Given the description of an element on the screen output the (x, y) to click on. 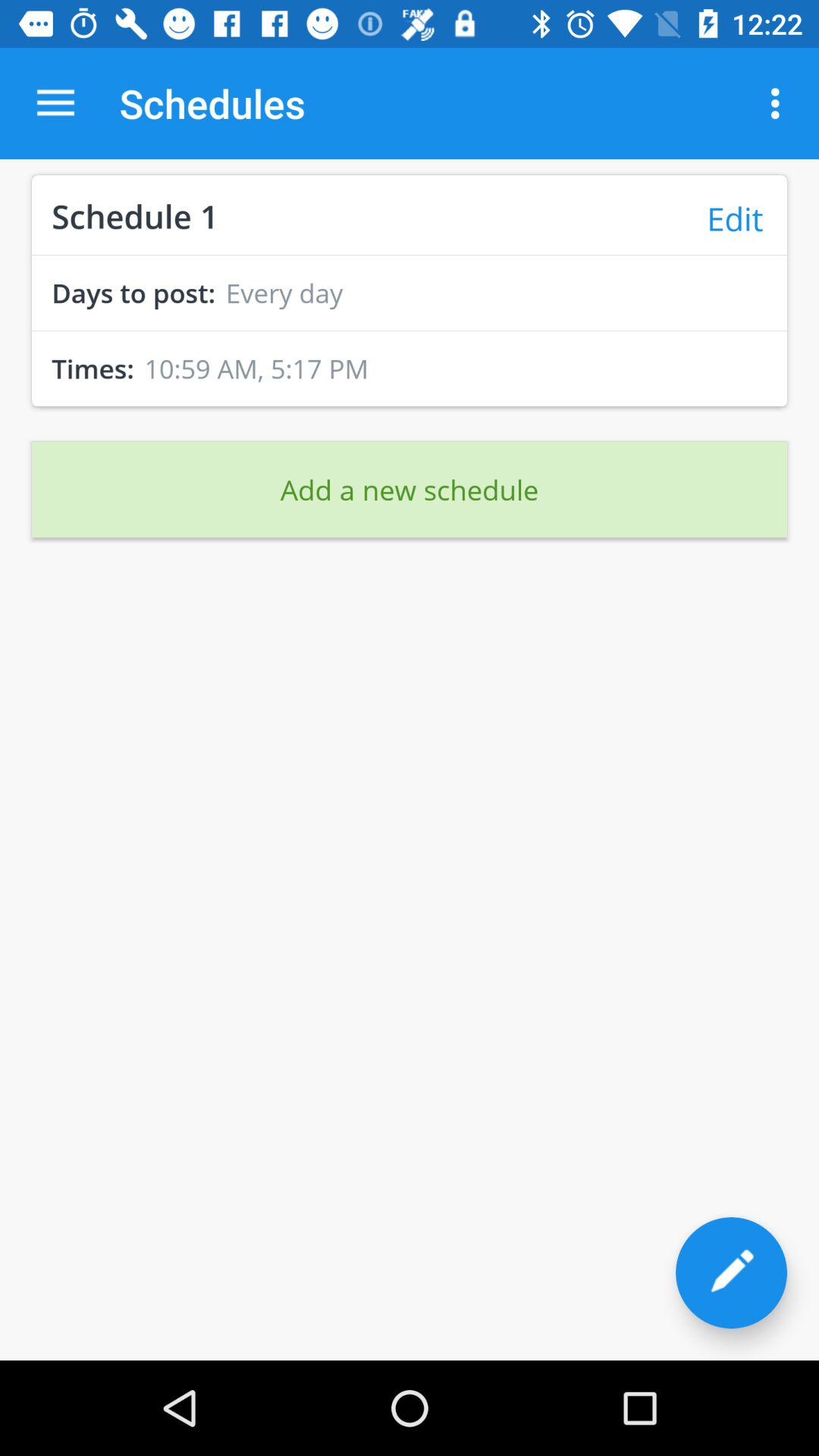
press the 10 59 am item (256, 368)
